Given the description of an element on the screen output the (x, y) to click on. 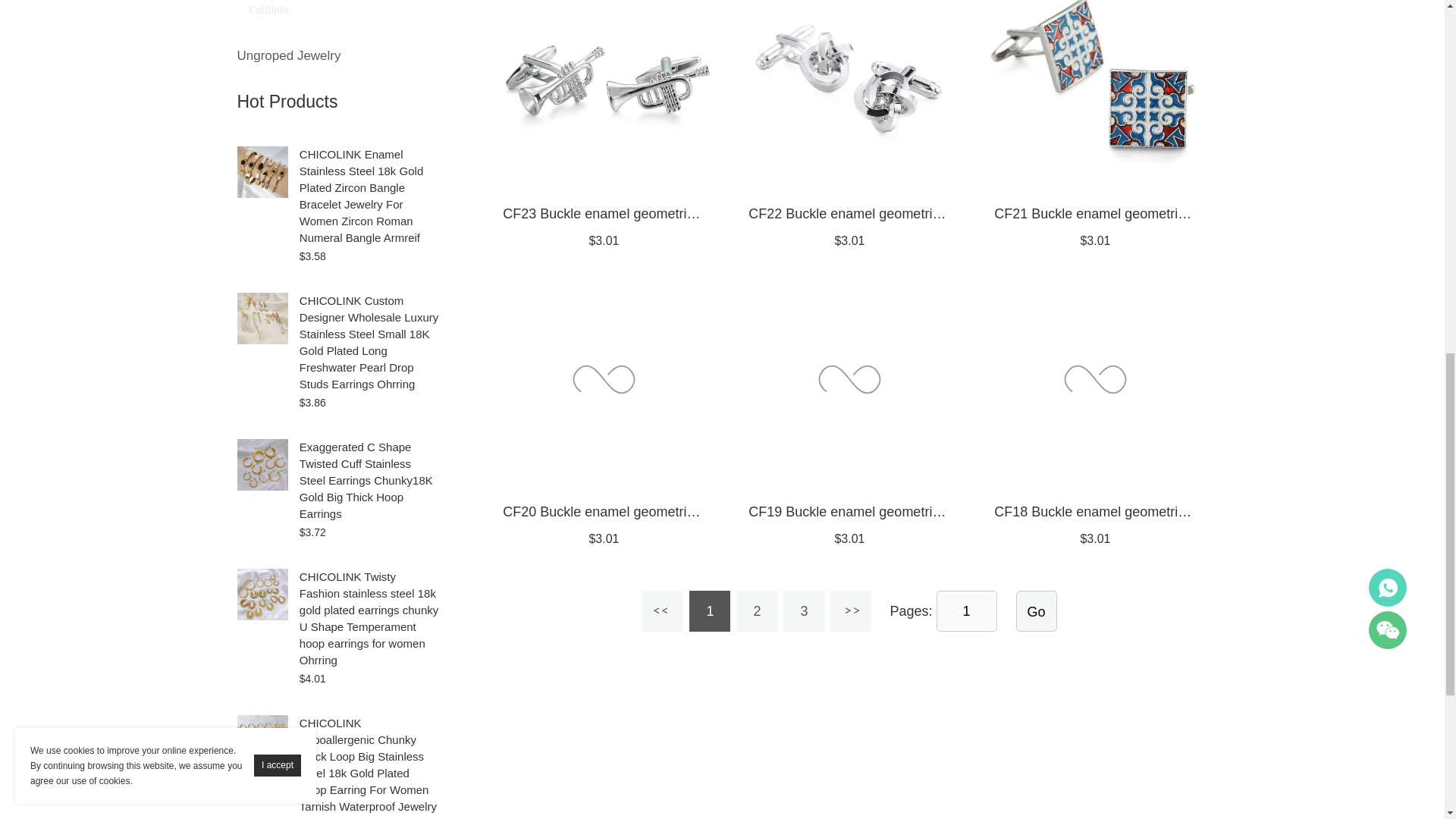
1 (966, 610)
